Given the description of an element on the screen output the (x, y) to click on. 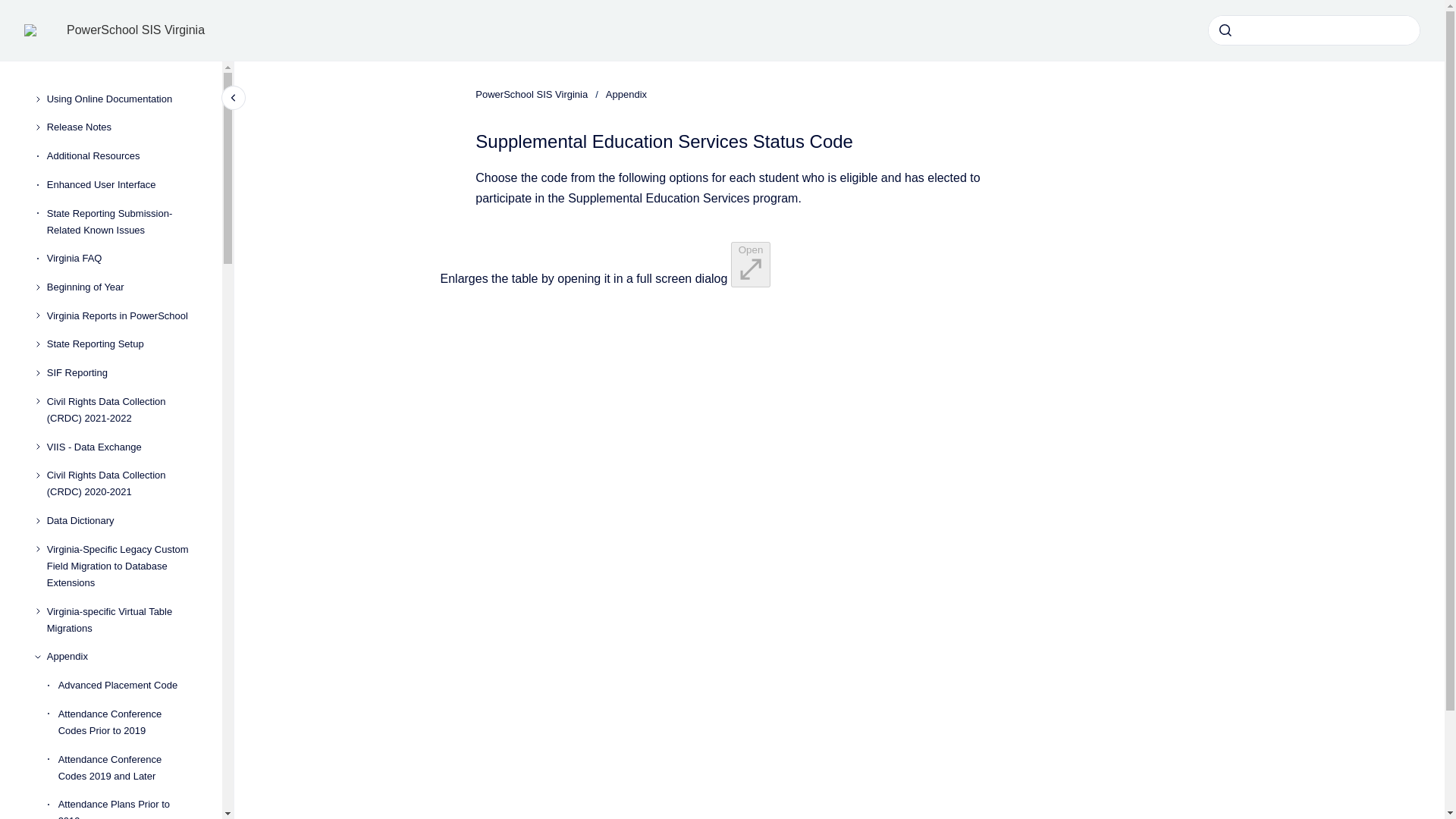
State Reporting Submission-Related Known Issues (122, 221)
Using Online Documentation (122, 99)
Attendance Plans Prior to 2019 (128, 805)
Virginia FAQ (122, 258)
State Reporting Setup (122, 344)
Virginia-specific Virtual Table Migrations (122, 620)
Appendix (122, 656)
Beginning of Year (122, 287)
PowerSchool SIS Virginia (135, 29)
Virginia Reports in PowerSchool (122, 316)
Enhanced User Interface (122, 185)
Advanced Placement Code (128, 685)
Attendance Conference Codes 2019 and Later (128, 768)
VIIS - Data Exchange (122, 447)
